Given the description of an element on the screen output the (x, y) to click on. 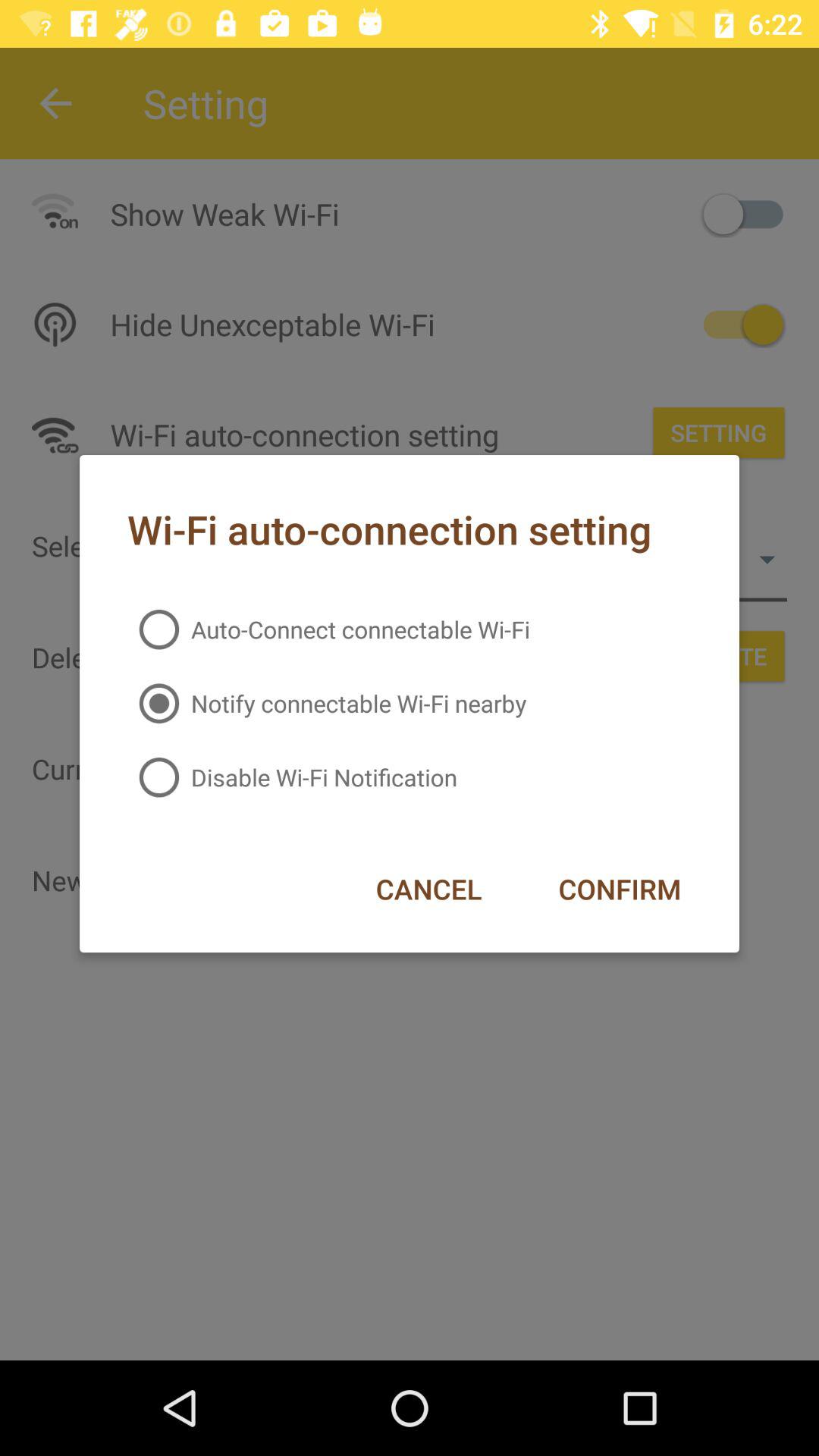
launch item on the right (619, 888)
